Given the description of an element on the screen output the (x, y) to click on. 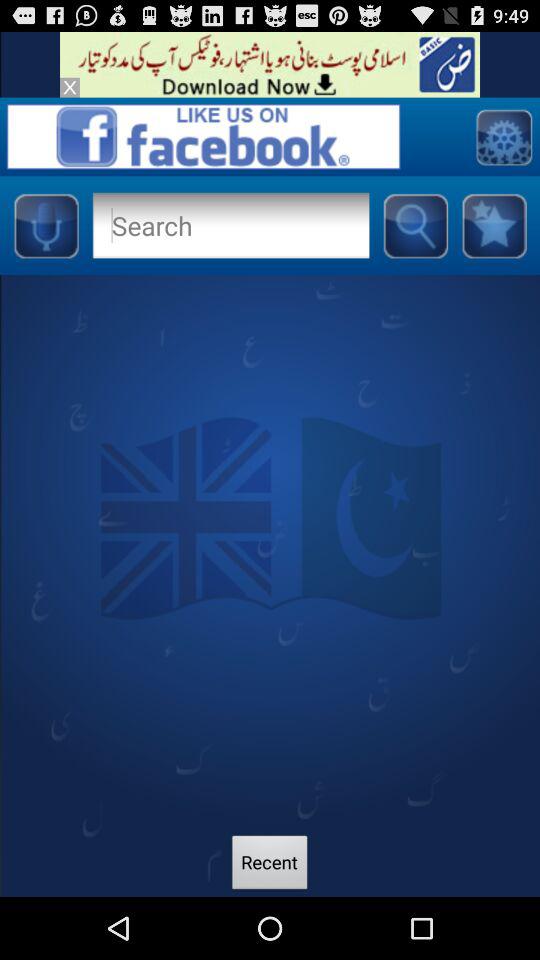
close advertisement banner (69, 87)
